Given the description of an element on the screen output the (x, y) to click on. 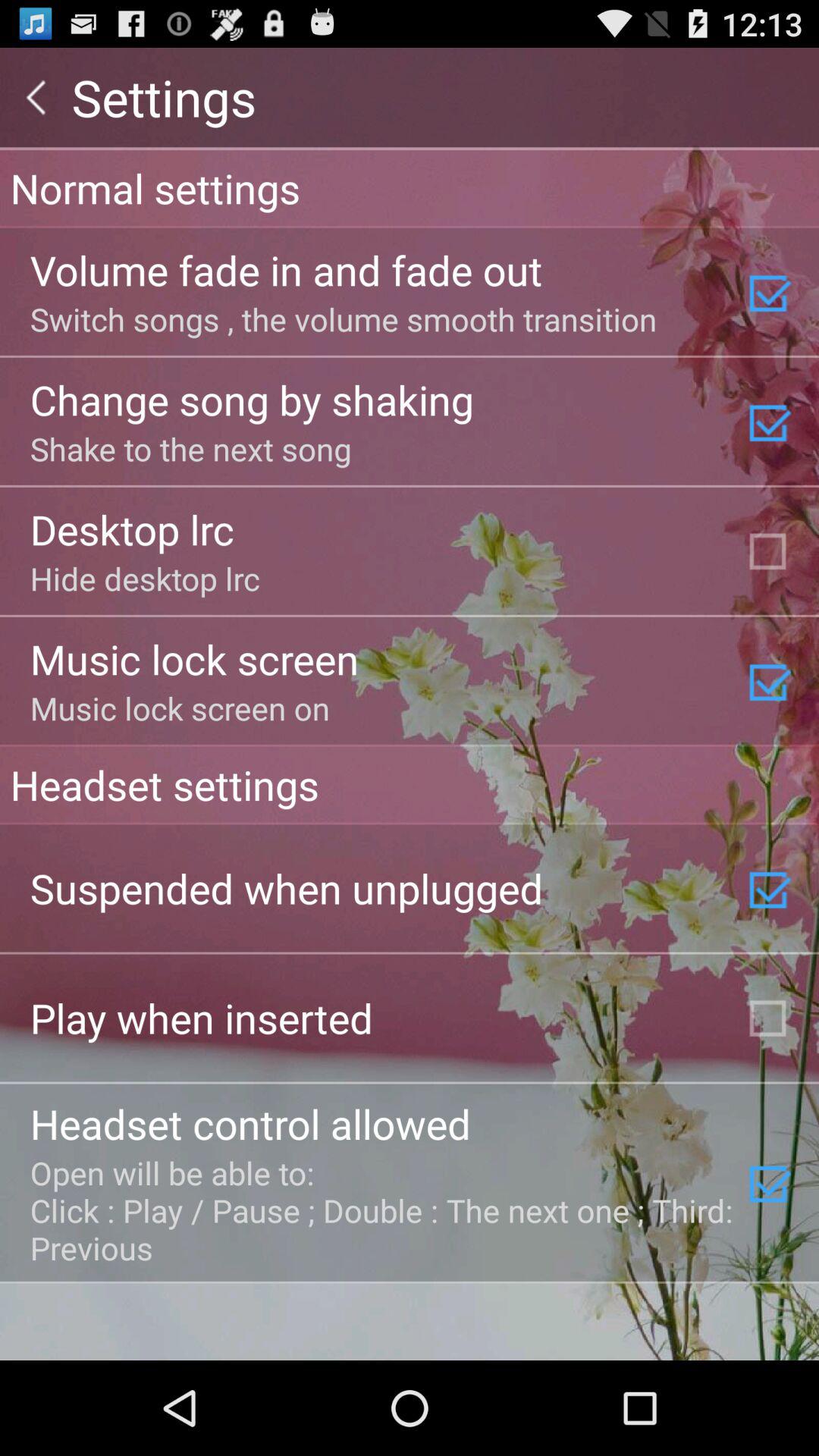
scroll to the play when inserted app (201, 1017)
